Given the description of an element on the screen output the (x, y) to click on. 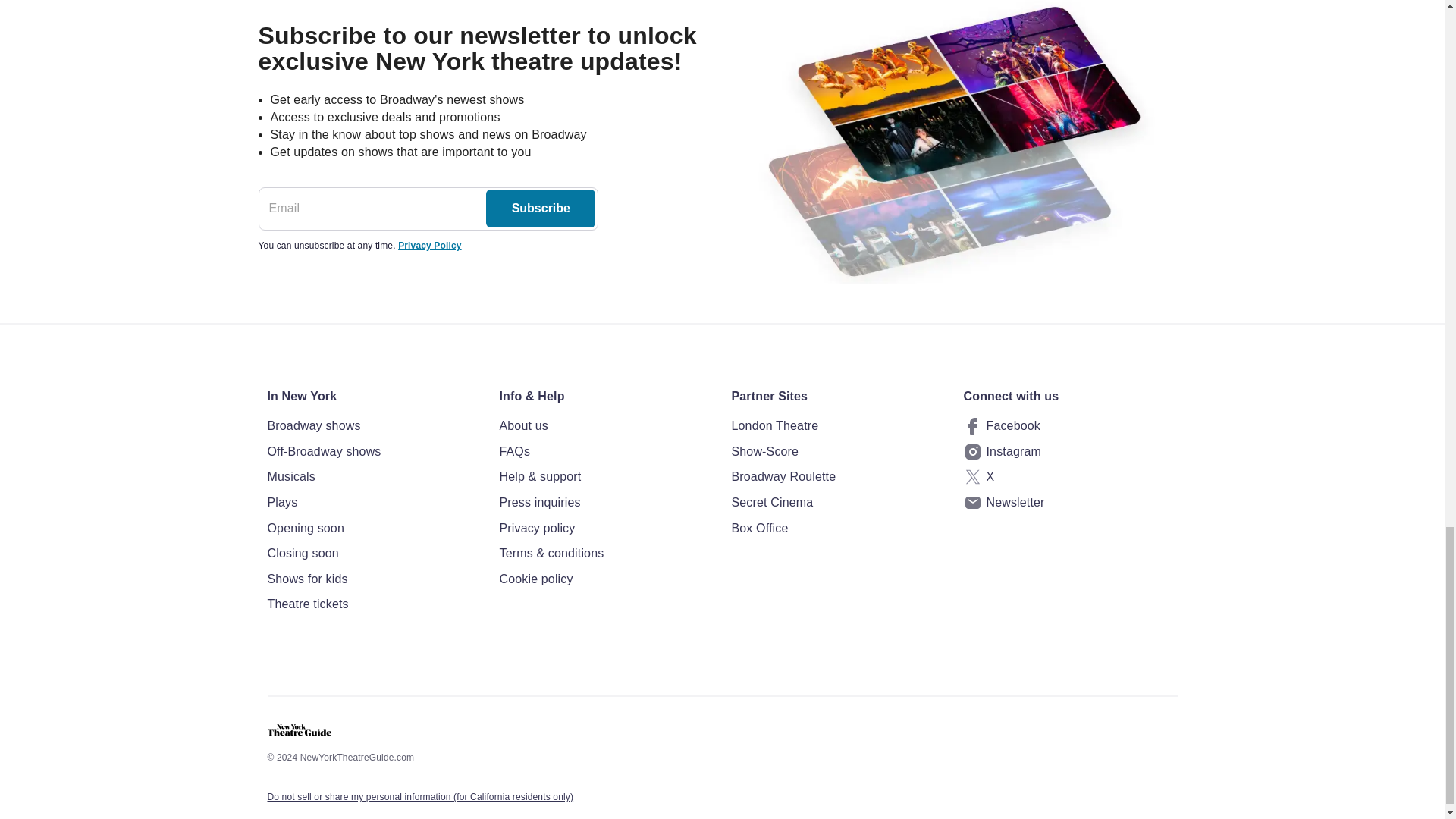
Broadway shows (373, 425)
Musicals (373, 476)
Closing soon (373, 553)
Shows for kids (373, 578)
Opening soon (373, 528)
Off-Broadway shows (373, 451)
Plays (373, 502)
